Given the description of an element on the screen output the (x, y) to click on. 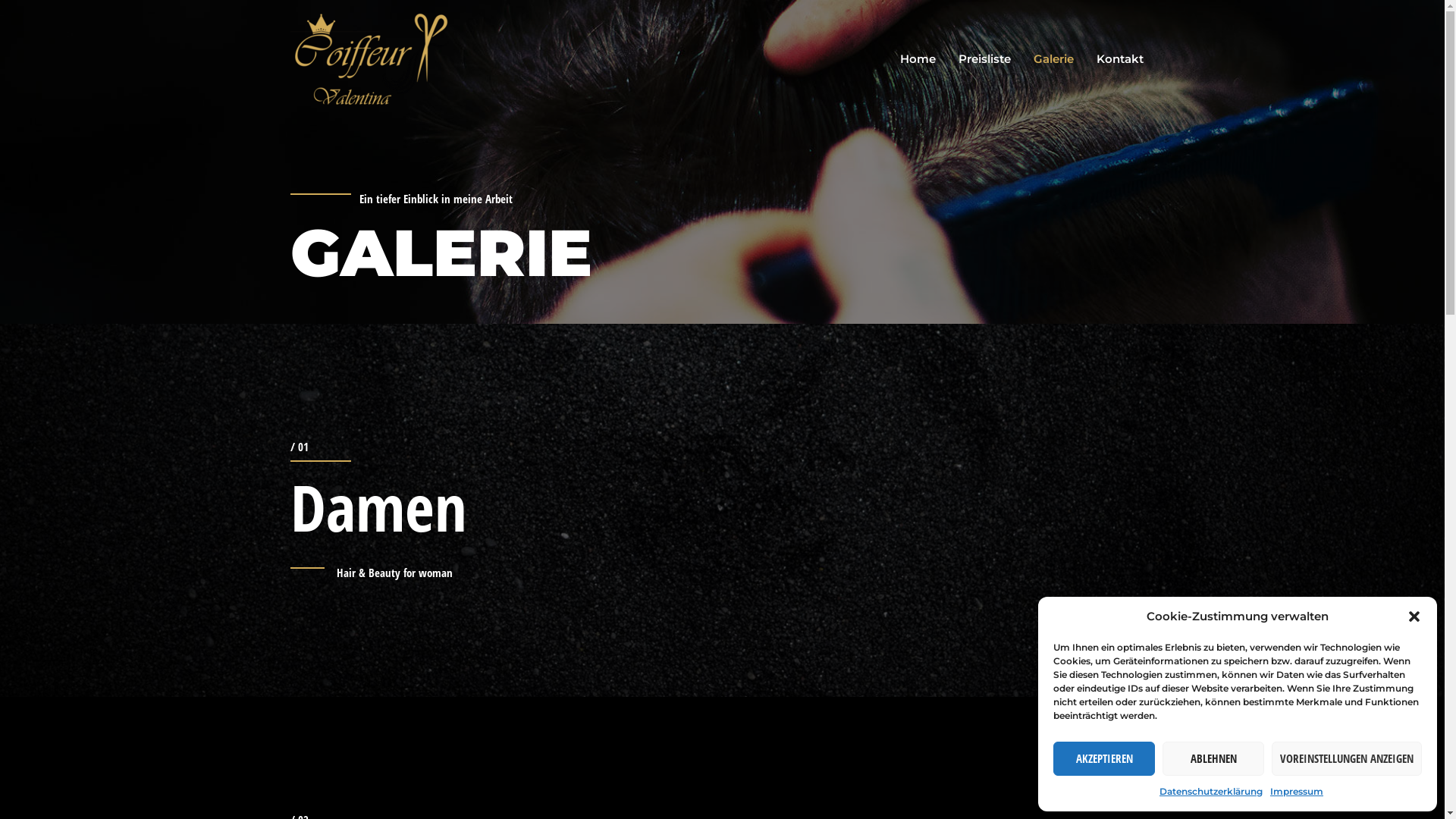
Preisliste Element type: text (983, 58)
AKZEPTIEREN Element type: text (1103, 758)
Galerie Element type: text (1053, 58)
Impressum Element type: text (1296, 791)
Home Element type: text (917, 58)
Kontakt Element type: text (1119, 58)
VOREINSTELLUNGEN ANZEIGEN Element type: text (1346, 758)
ABLEHNEN Element type: text (1213, 758)
